Given the description of an element on the screen output the (x, y) to click on. 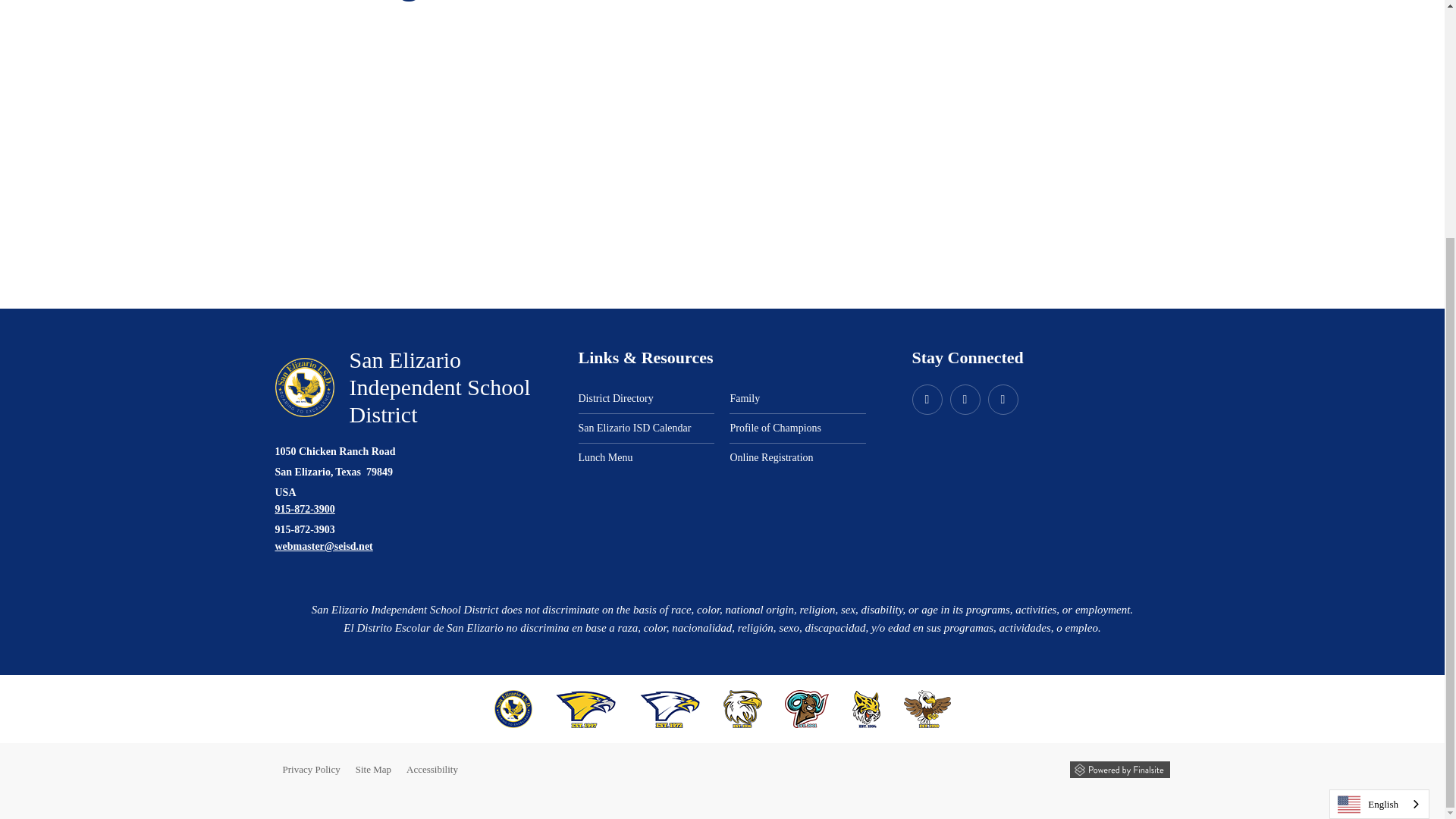
Email (323, 546)
Powered by Finalsite opens in a new window (1118, 769)
